Given the description of an element on the screen output the (x, y) to click on. 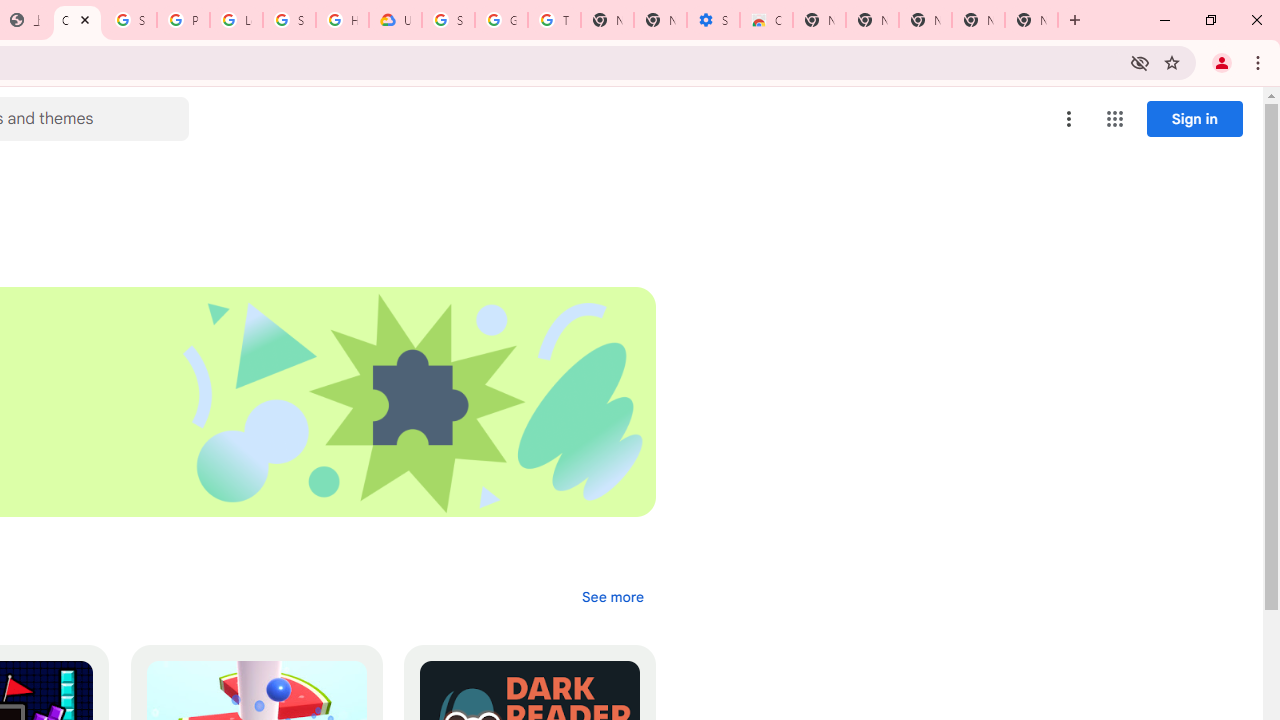
Settings - Accessibility (713, 20)
Google Account Help (501, 20)
More options menu (1069, 118)
Sign in - Google Accounts (289, 20)
See more personalized recommendations (612, 596)
Turn cookies on or off - Computer - Google Account Help (554, 20)
